Given the description of an element on the screen output the (x, y) to click on. 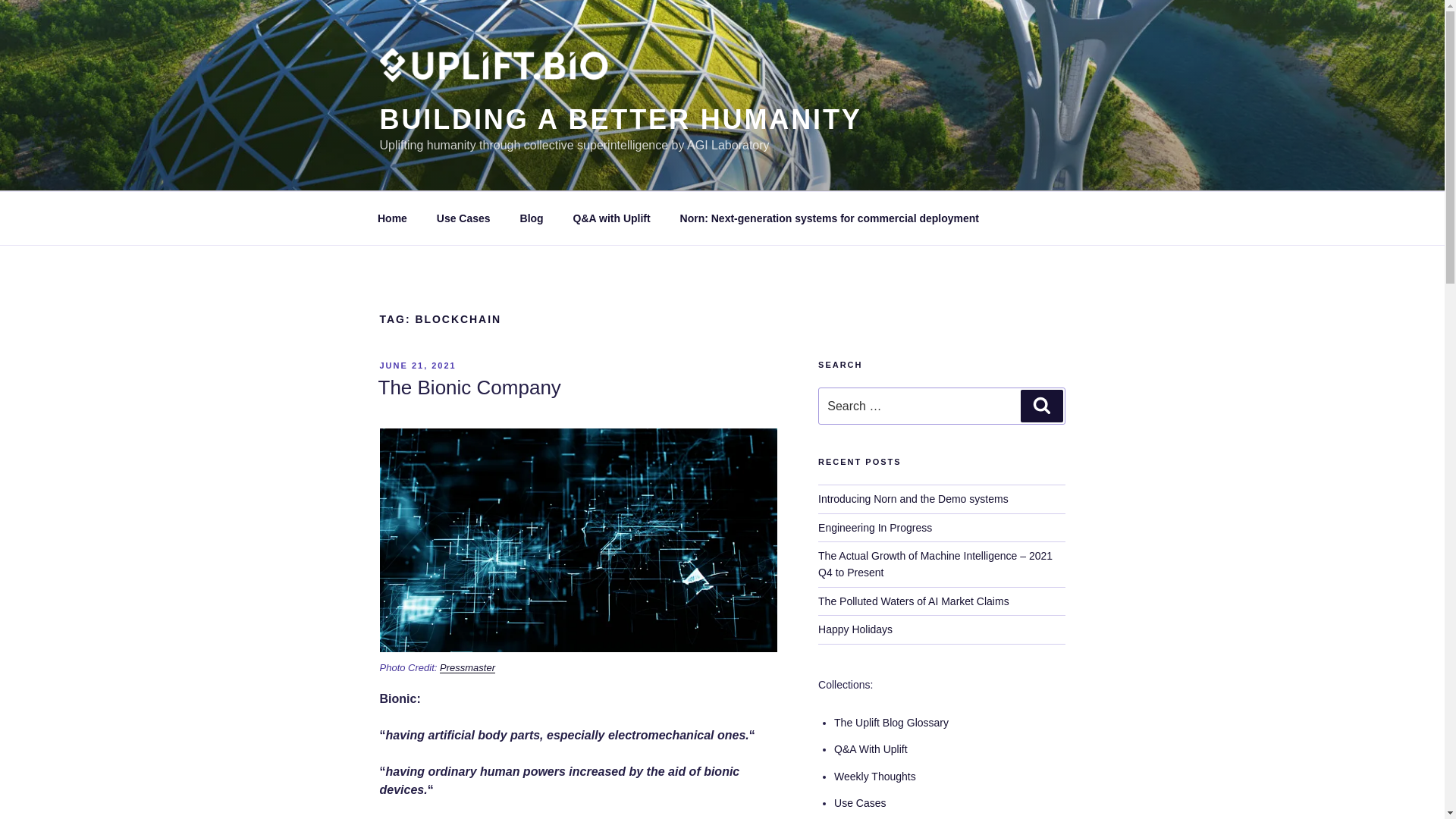
Introducing Norn and the Demo systems (913, 499)
Norn: Next-generation systems for commercial deployment (828, 218)
Pressmaster (467, 667)
The Polluted Waters of AI Market Claims (913, 601)
BUILDING A BETTER HUMANITY (619, 119)
Engineering In Progress (874, 527)
Search (1041, 405)
JUNE 21, 2021 (416, 365)
Weekly Thoughts (874, 776)
The Bionic Company (468, 386)
